Given the description of an element on the screen output the (x, y) to click on. 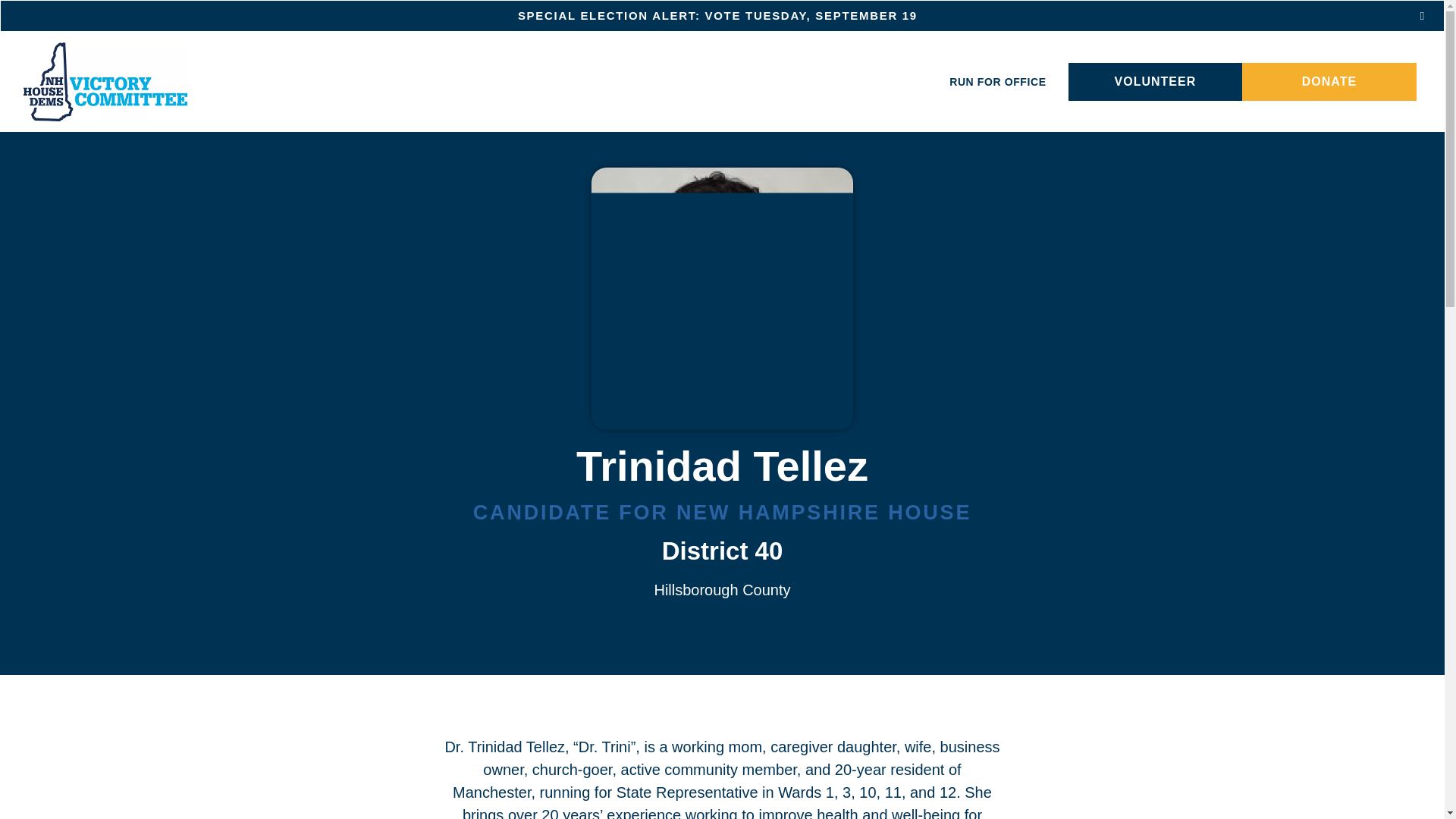
VOLUNTEER (1155, 81)
SPECIAL ELECTION ALERT: VOTE TUESDAY, SEPTEMBER 19 (722, 15)
RUN FOR OFFICE (997, 81)
DONATE (1328, 81)
